Given the description of an element on the screen output the (x, y) to click on. 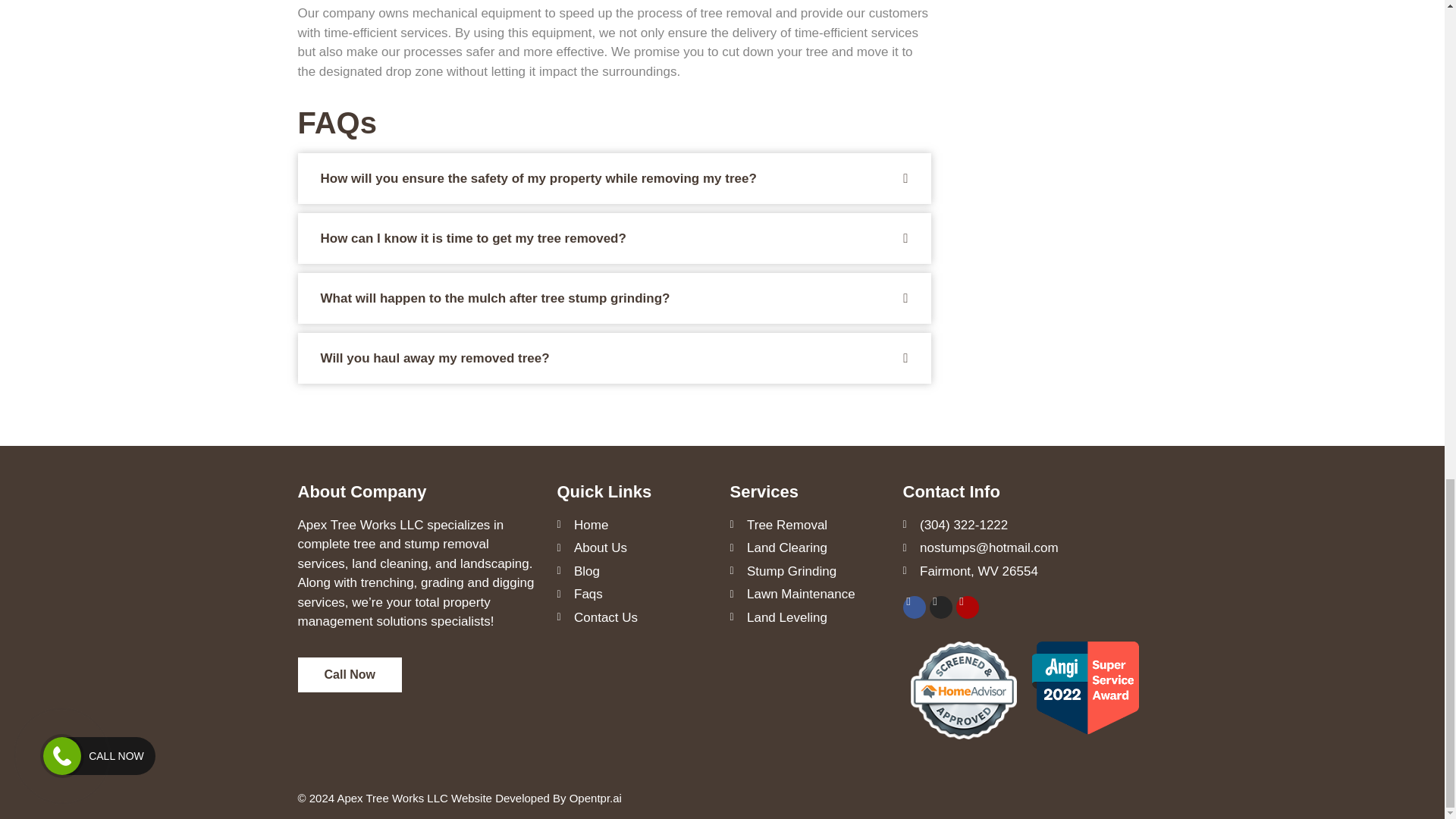
What will happen to the mulch after tree stump grinding? (494, 298)
Will you haul away my removed tree? (434, 358)
How can I know it is time to get my tree removed? (473, 237)
